Given the description of an element on the screen output the (x, y) to click on. 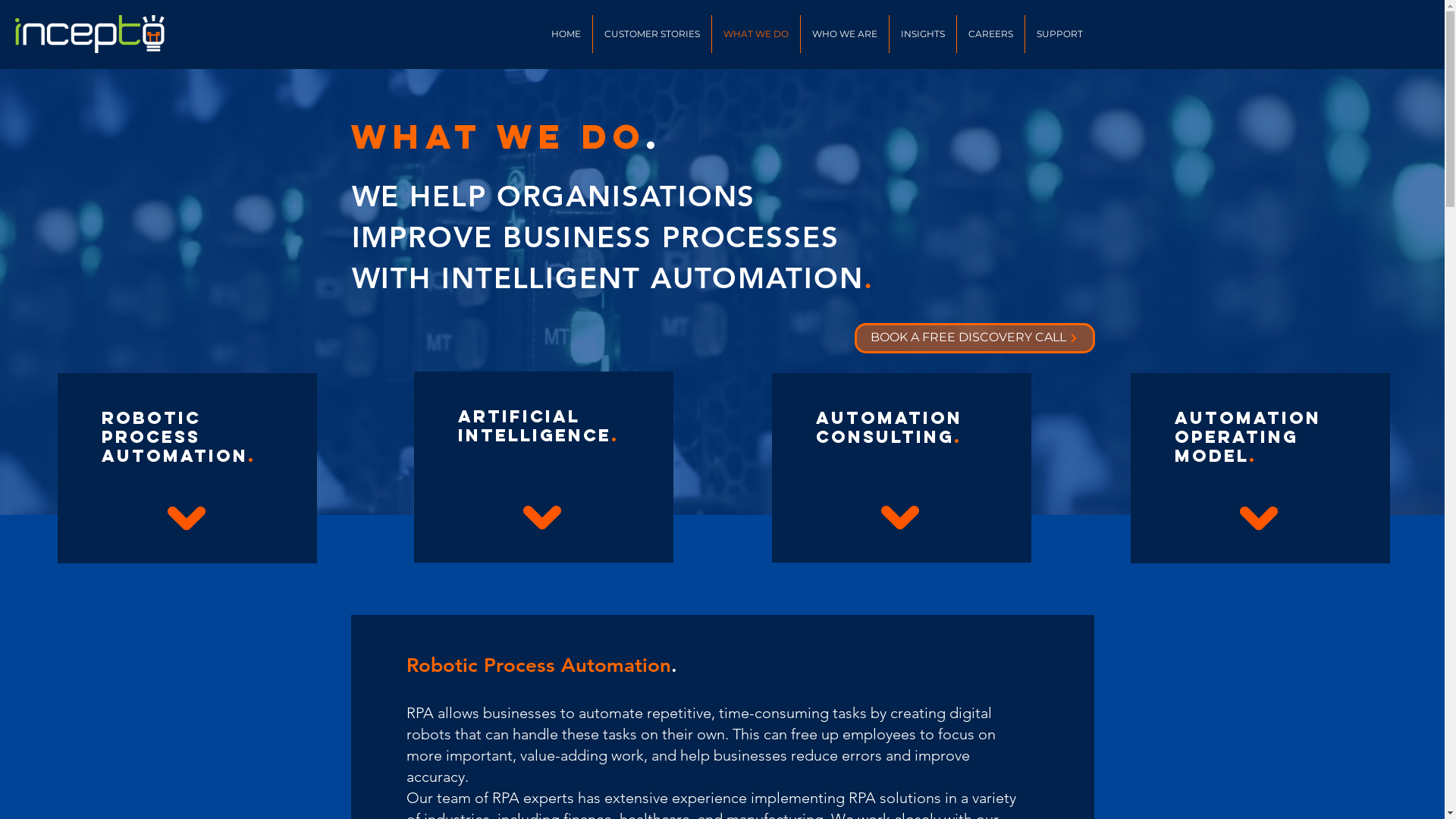
SUPPORT Element type: text (1059, 34)
CAREERS Element type: text (990, 34)
HOME Element type: text (565, 34)
INSIGHTS Element type: text (921, 34)
WHO WE ARE Element type: text (844, 34)
CUSTOMER STORIES Element type: text (652, 34)
TWIPLA (Visitor Analytics) Element type: hover (1442, 4)
ROBOTIC PROCESS AUTOMATION. Element type: text (178, 436)
WHAT WE DO Element type: text (755, 34)
BOOK A FREE DISCOVERY CALL Element type: text (973, 338)
ARTIFICIAL INTELLIGENCE. Element type: text (538, 425)
